Given the description of an element on the screen output the (x, y) to click on. 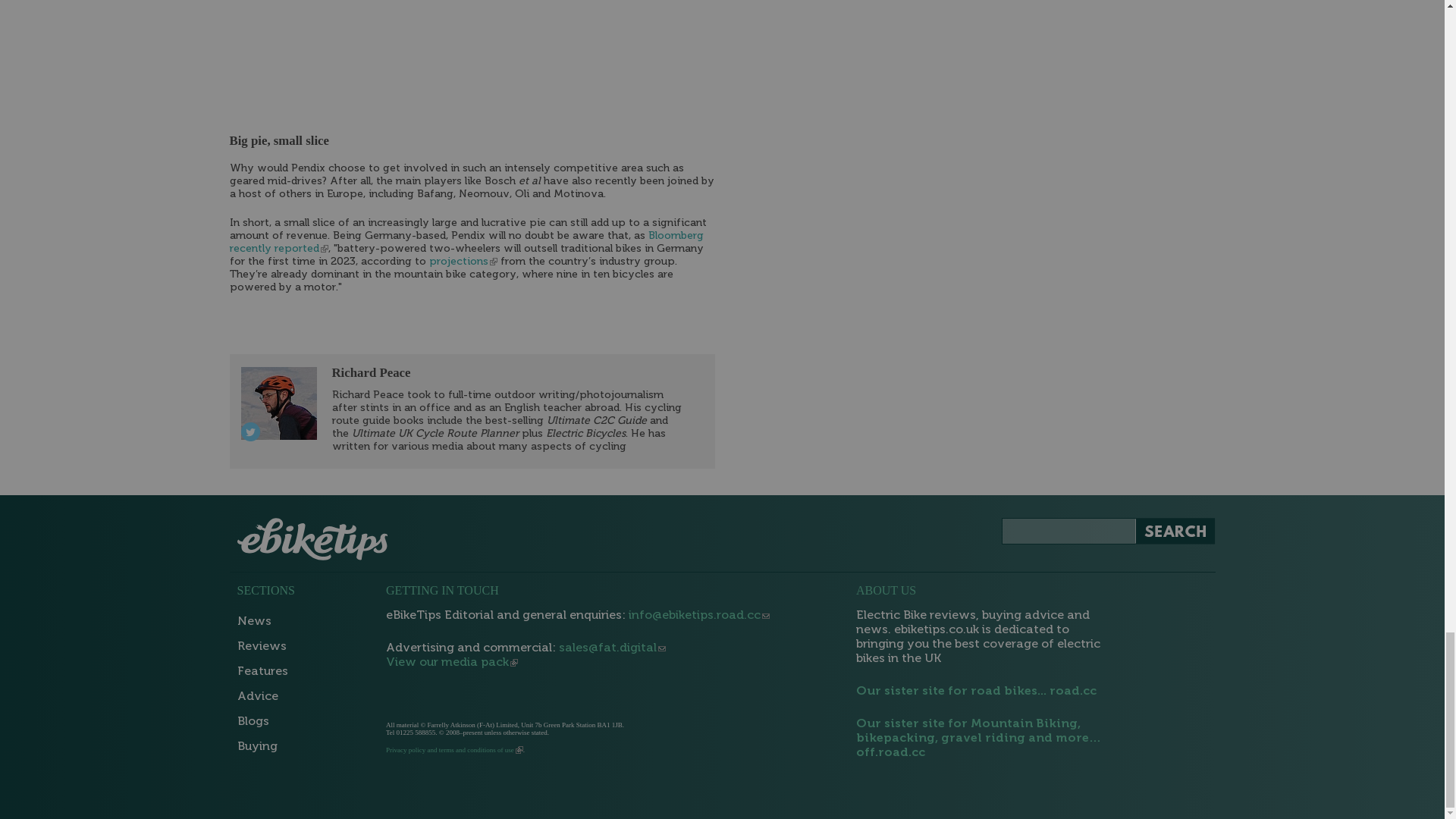
Bloomberg recently reported (465, 241)
Buying advice (264, 697)
Search (1174, 530)
projections (463, 261)
Features (264, 672)
